Given the description of an element on the screen output the (x, y) to click on. 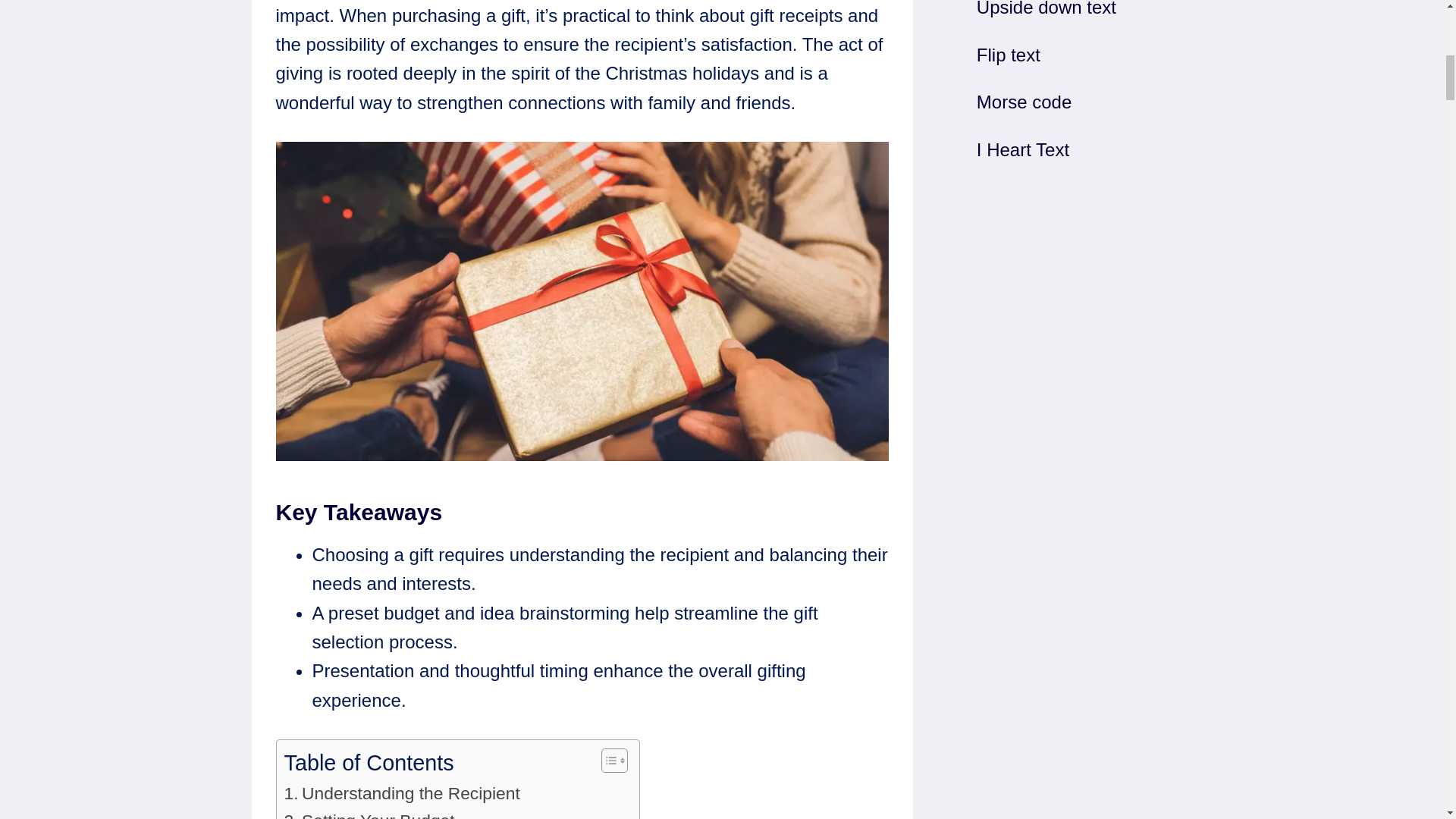
Understanding the Recipient (401, 792)
Setting Your Budget (368, 812)
Setting Your Budget (368, 812)
Understanding the Recipient (401, 792)
